Given the description of an element on the screen output the (x, y) to click on. 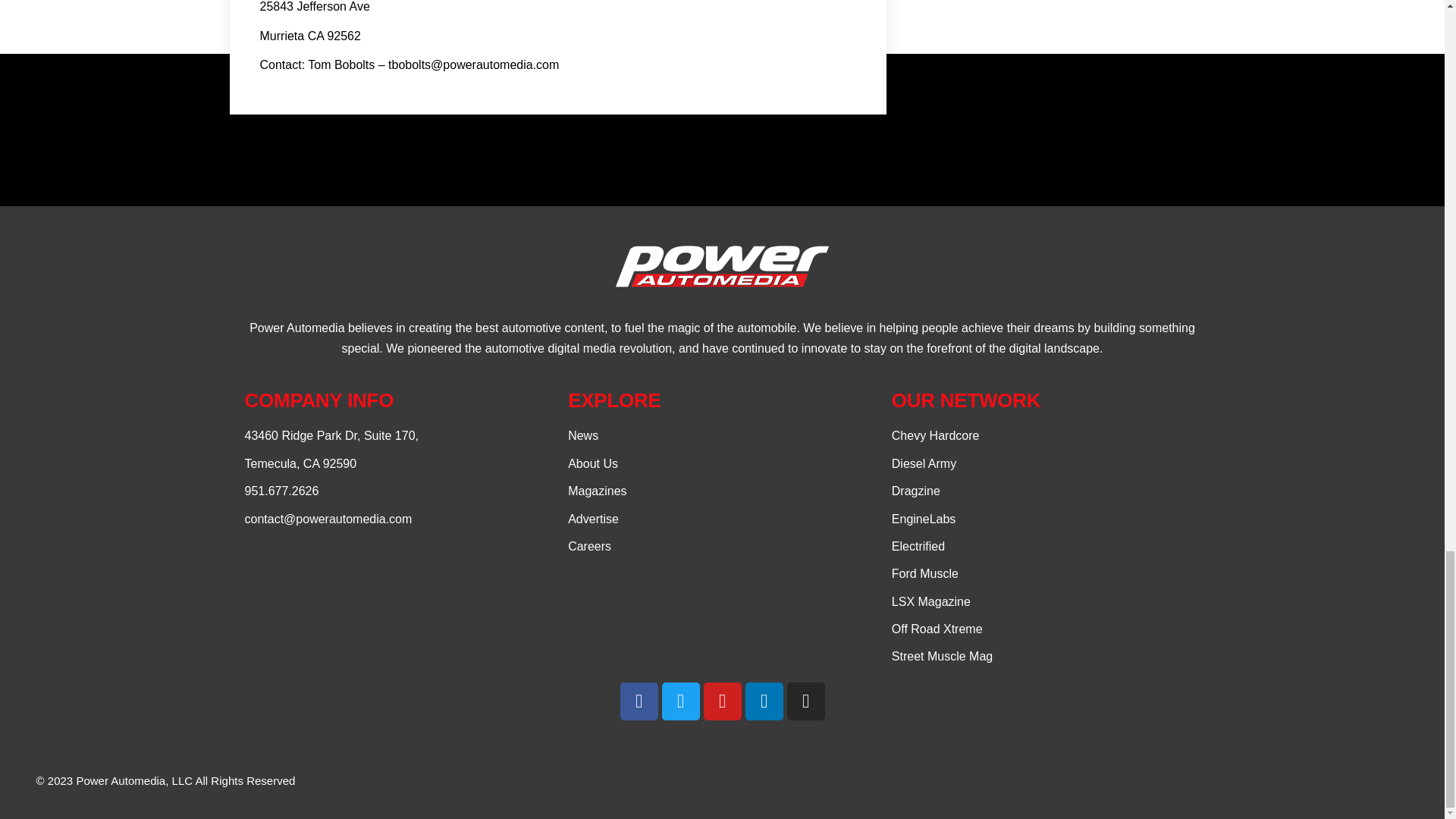
PAM-Logo (721, 266)
